Given the description of an element on the screen output the (x, y) to click on. 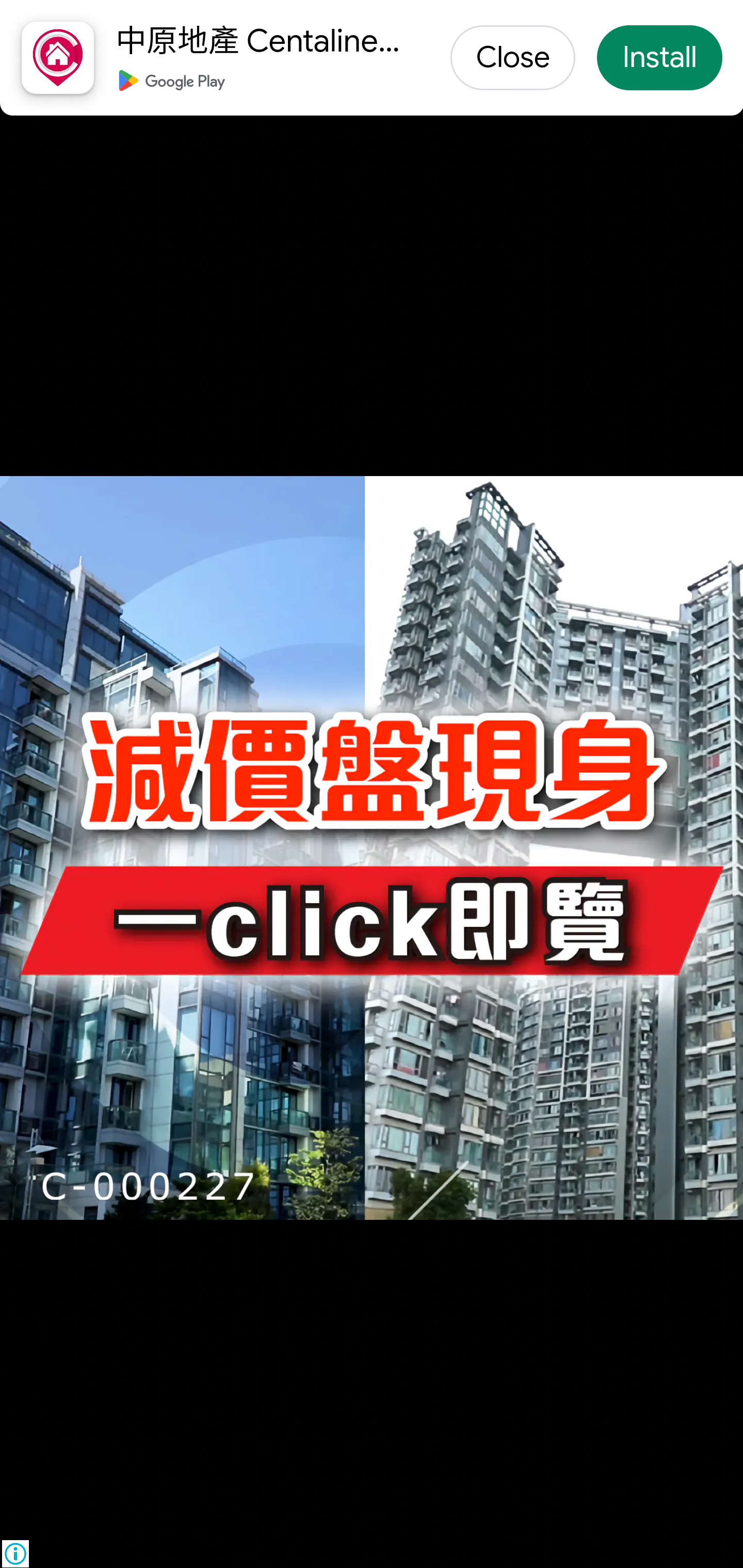
Close (512, 58)
Install (659, 58)
